Given the description of an element on the screen output the (x, y) to click on. 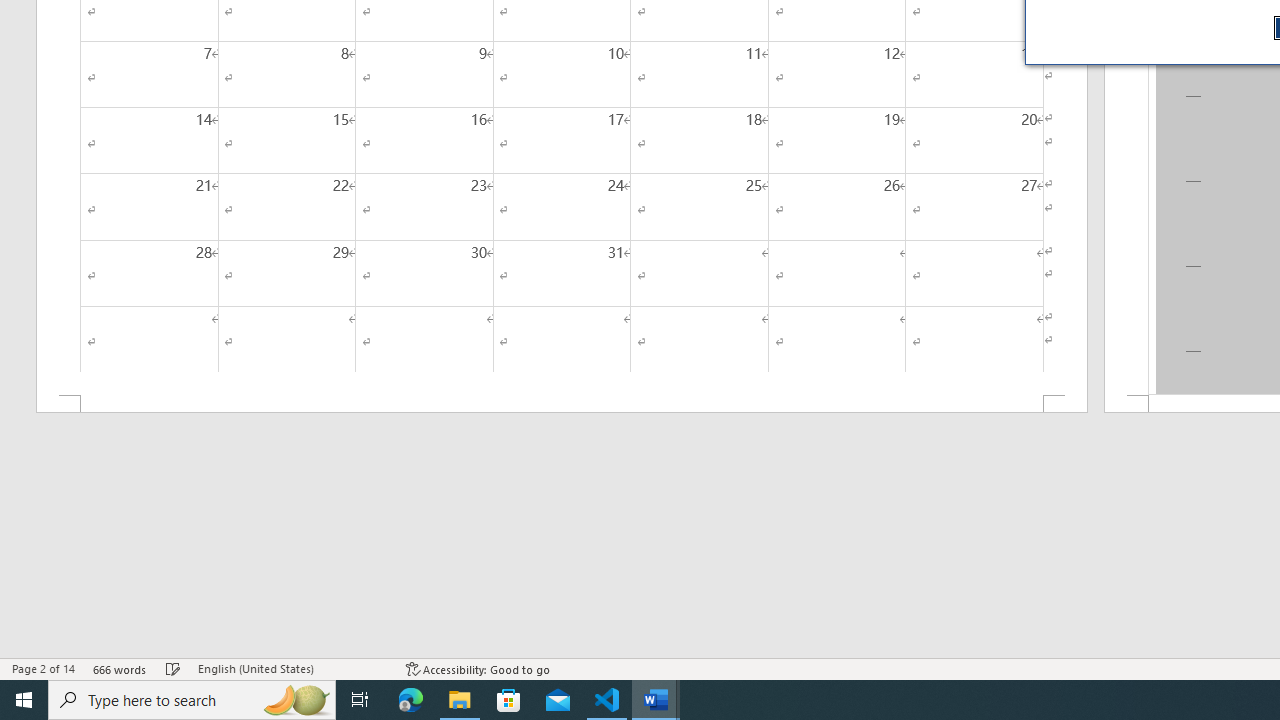
Microsoft Store (509, 699)
Task View (359, 699)
